Given the description of an element on the screen output the (x, y) to click on. 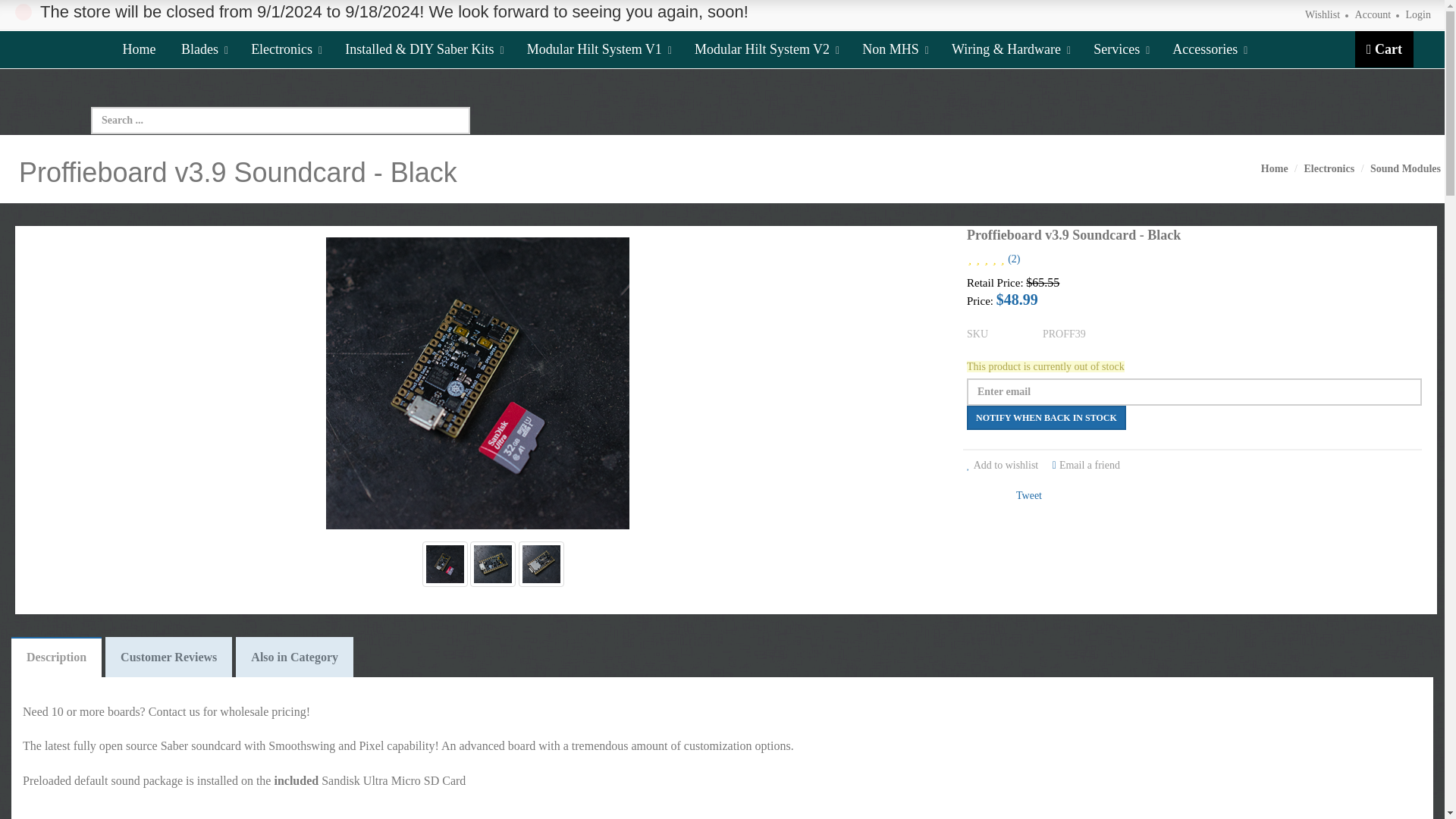
Home (138, 49)
Wishlist (1321, 14)
NOTIFY WHEN BACK IN STOCK (1045, 417)
Proffieboard v3.9 Soundcard - Black (477, 388)
Electronics (286, 49)
Account (1372, 14)
Blades (205, 49)
Login (1418, 14)
